Given the description of an element on the screen output the (x, y) to click on. 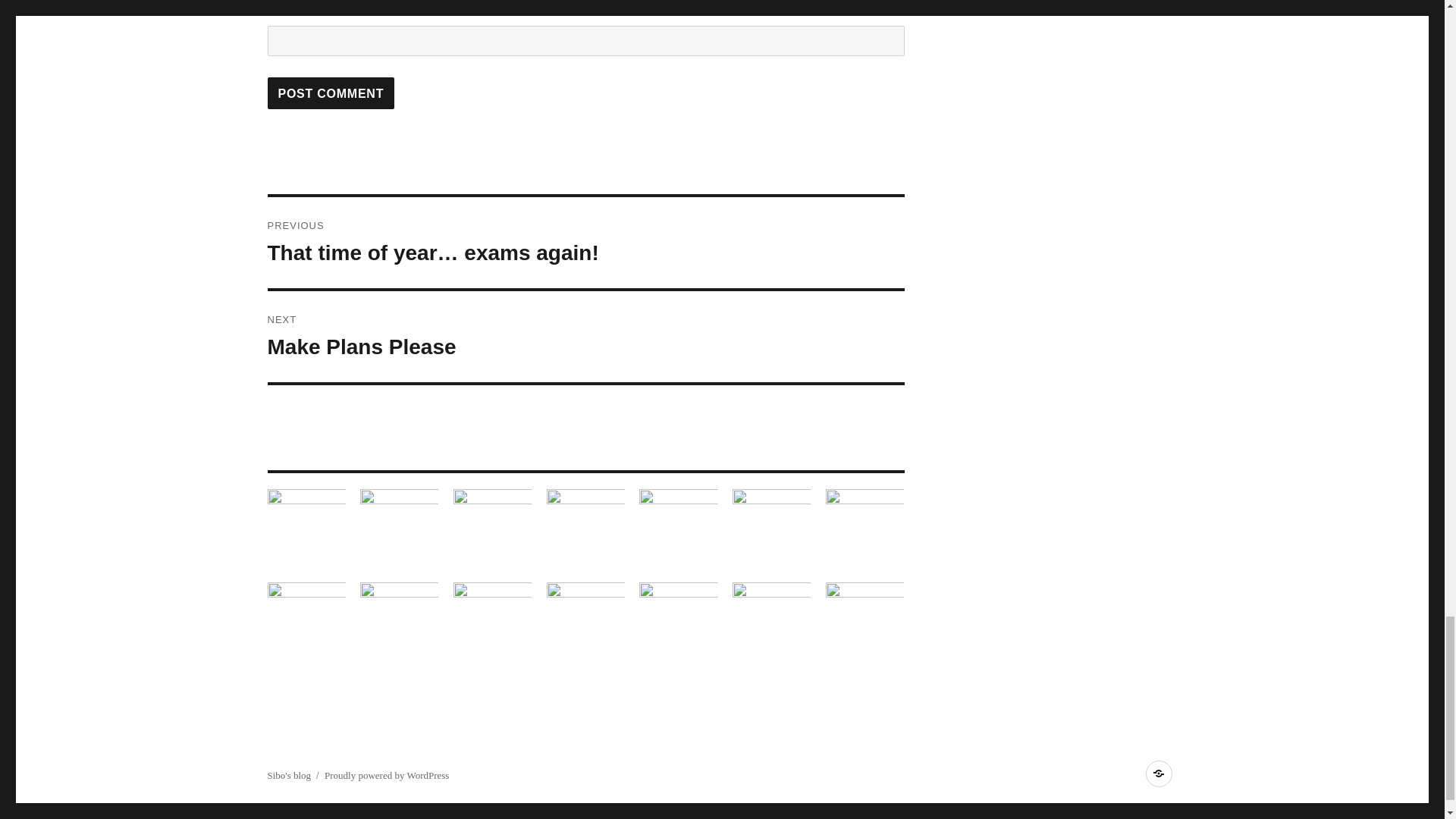
Post Comment (330, 92)
Post Comment (585, 336)
